Given the description of an element on the screen output the (x, y) to click on. 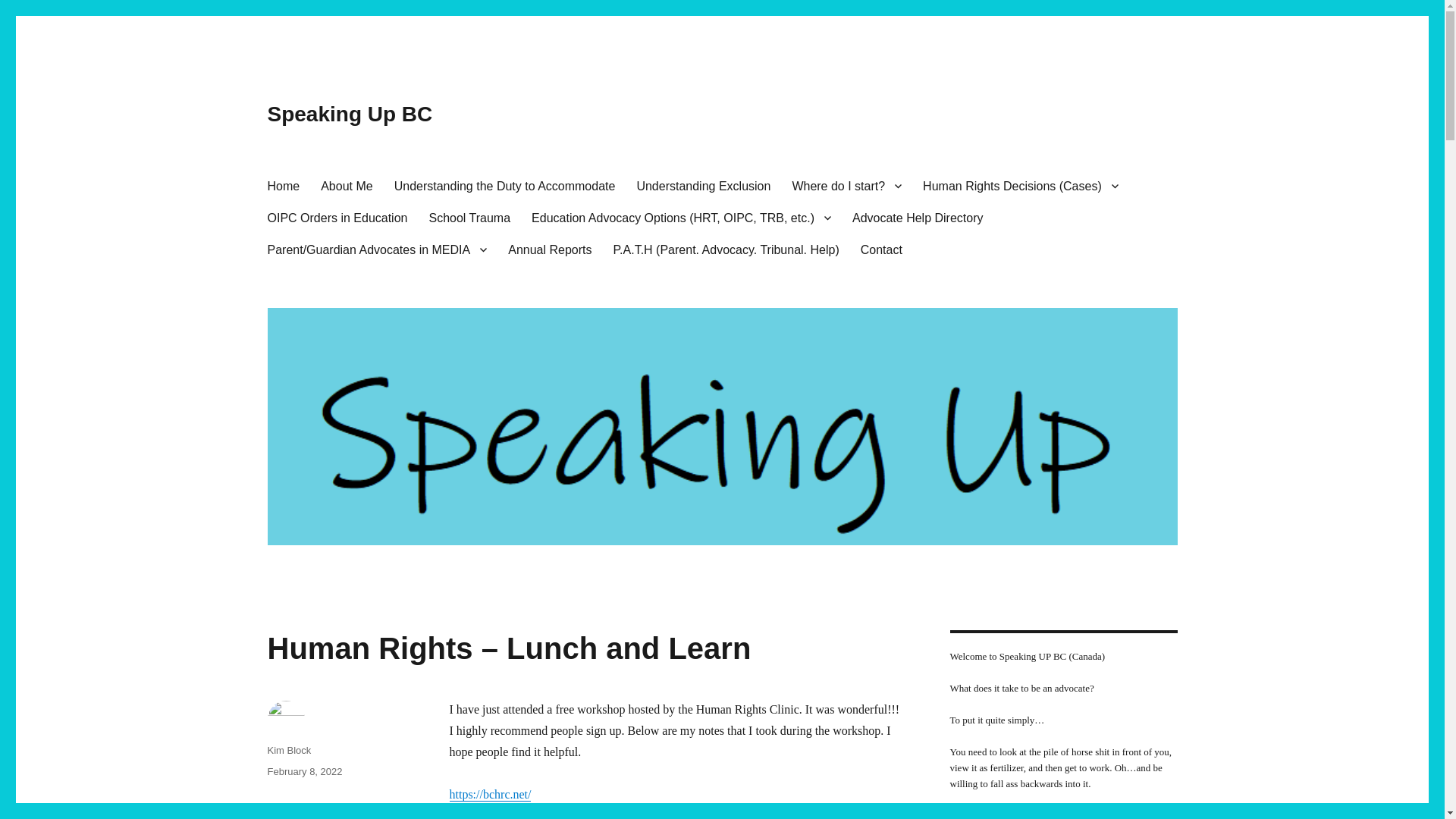
Where do I start? (846, 185)
Understanding the Duty to Accommodate (505, 185)
School Trauma (469, 217)
Understanding Exclusion (703, 185)
OIPC Orders in Education (336, 217)
Home (283, 185)
About Me (346, 185)
Speaking Up BC (349, 114)
